Given the description of an element on the screen output the (x, y) to click on. 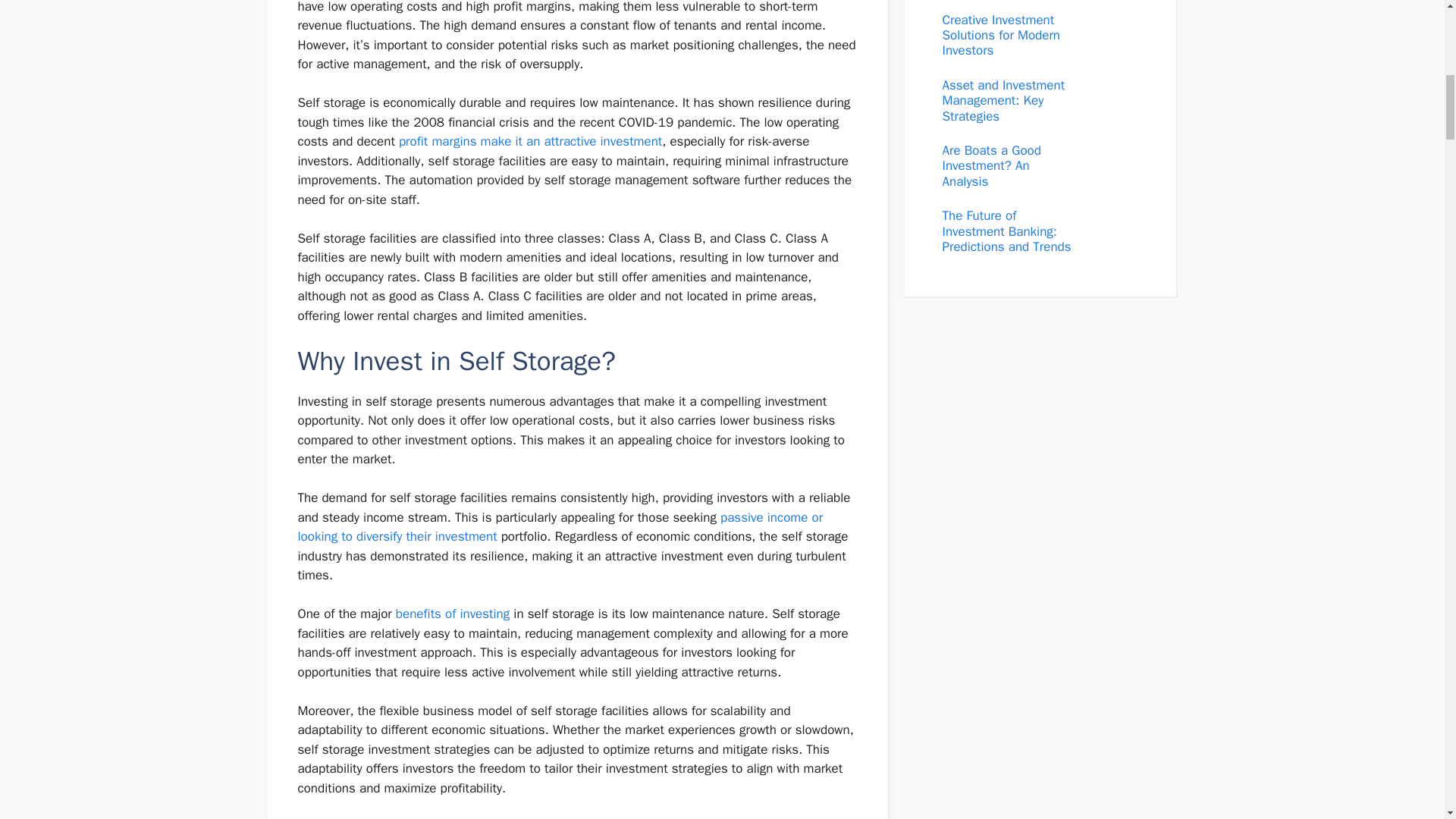
Asset and Investment Management: Key Strategies (1003, 100)
The Future of Investment Banking: Predictions and Trends (1006, 231)
passive income or looking to diversify their investment (559, 527)
Are Boats a Good Investment? An Analysis (991, 165)
benefits of investing (452, 613)
profit margins make it an attractive investment (530, 141)
Creative Investment Solutions for Modern Investors (1000, 35)
